Given the description of an element on the screen output the (x, y) to click on. 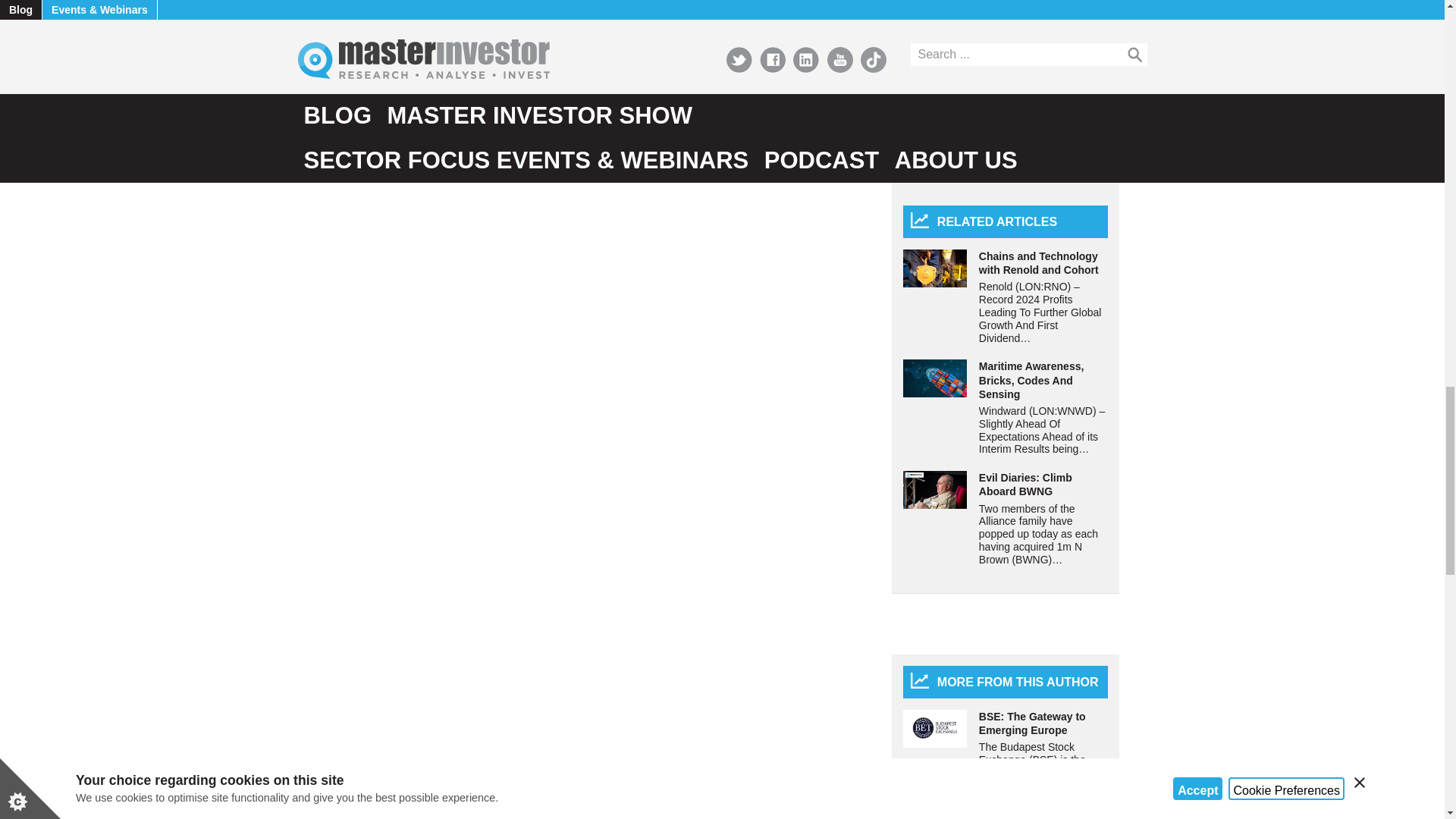
Chains and Technology with Renold and Cohort (934, 268)
Maritime Awareness, Bricks, Codes And Sensing (934, 378)
BSE: The Gateway to Emerging Europe (934, 728)
Evil Diaries: Climb Aboard BWNG (934, 489)
